Given the description of an element on the screen output the (x, y) to click on. 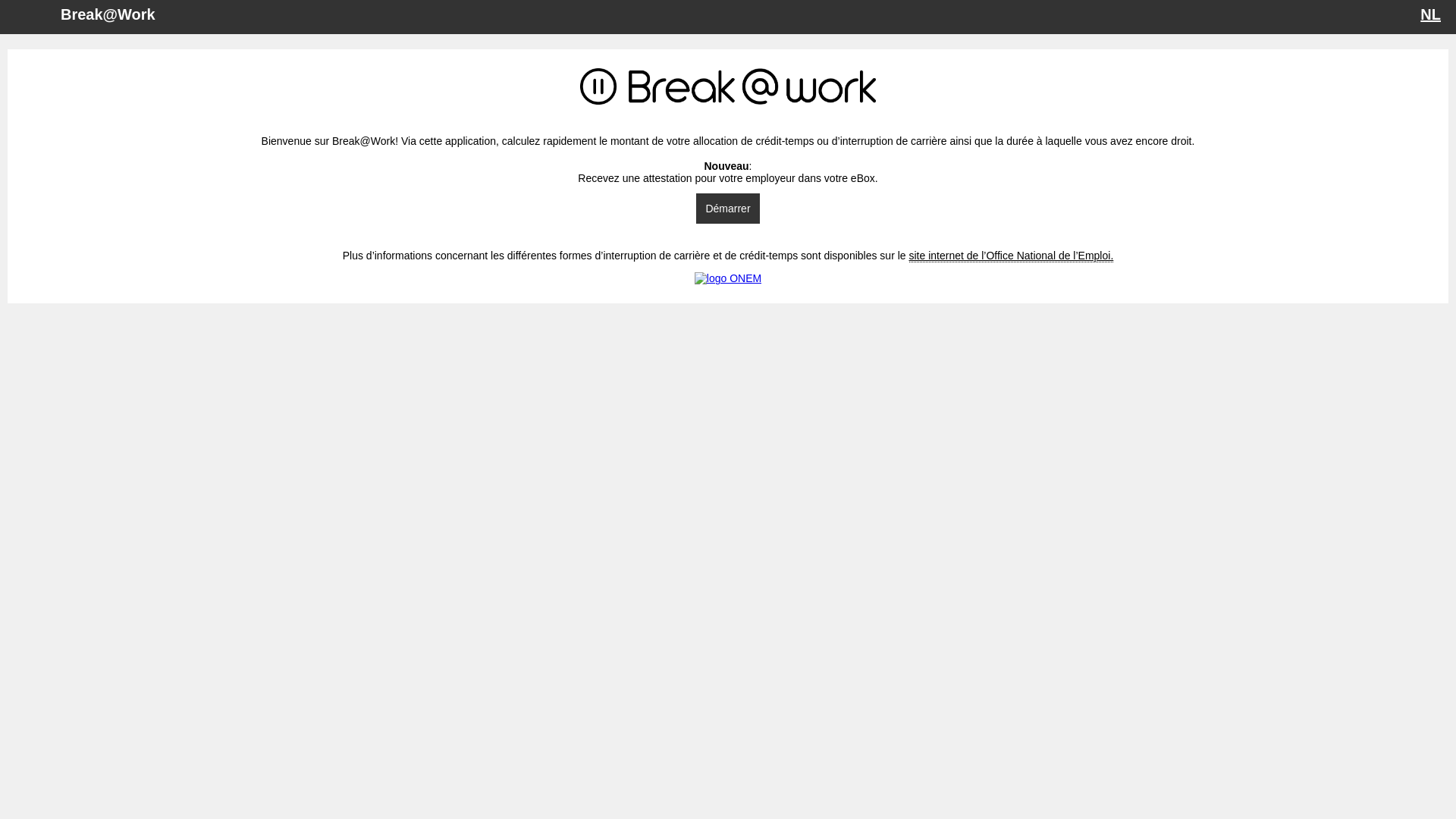
NL Element type: text (1430, 14)
